Given the description of an element on the screen output the (x, y) to click on. 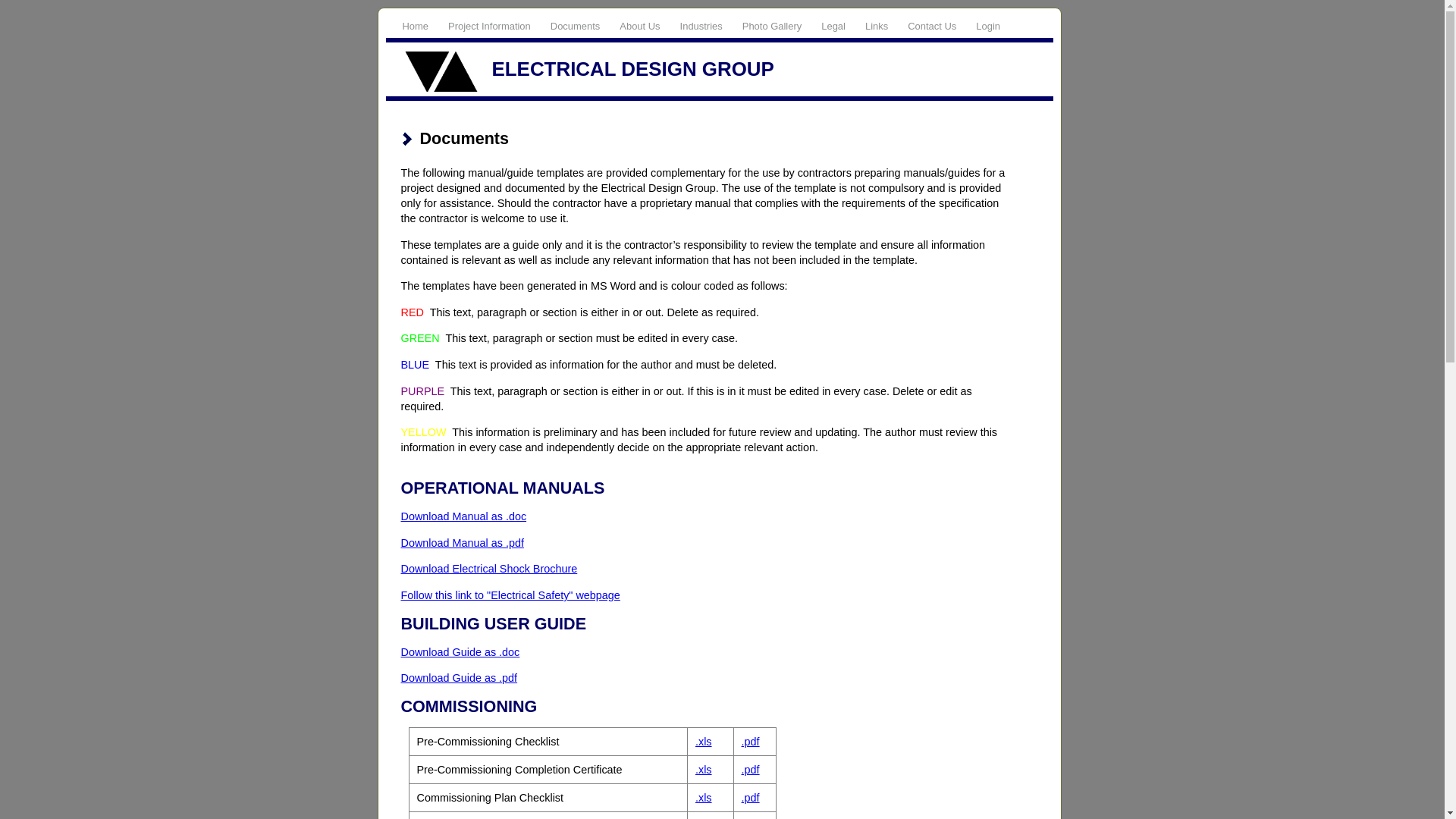
.pdf Element type: text (750, 797)
.pdf Element type: text (750, 769)
.pdf Element type: text (750, 741)
OPERATIONAL MANUALS Element type: text (502, 487)
Home Element type: text (419, 25)
BUILDING USER GUIDE Element type: text (493, 623)
.xls Element type: text (703, 769)
Photo Gallery Element type: text (776, 25)
Follow this link to "Electrical Safety" webpage Element type: text (509, 595)
.xls Element type: text (703, 797)
Login Element type: text (992, 25)
COMMISSIONING Element type: text (468, 705)
Download Guide as .pdf Element type: text (458, 677)
About Us Element type: text (644, 25)
Legal Element type: text (837, 25)
Project Information Element type: text (494, 25)
.xls Element type: text (703, 741)
Contact Us Element type: text (936, 25)
Industries Element type: text (706, 25)
Links Element type: text (881, 25)
Download Electrical Shock Brochure Element type: text (488, 568)
Documents Element type: text (580, 25)
Download Manual as .doc Element type: text (463, 516)
Download Guide as .doc Element type: text (459, 652)
Download Manual as .pdf Element type: text (461, 542)
